Given the description of an element on the screen output the (x, y) to click on. 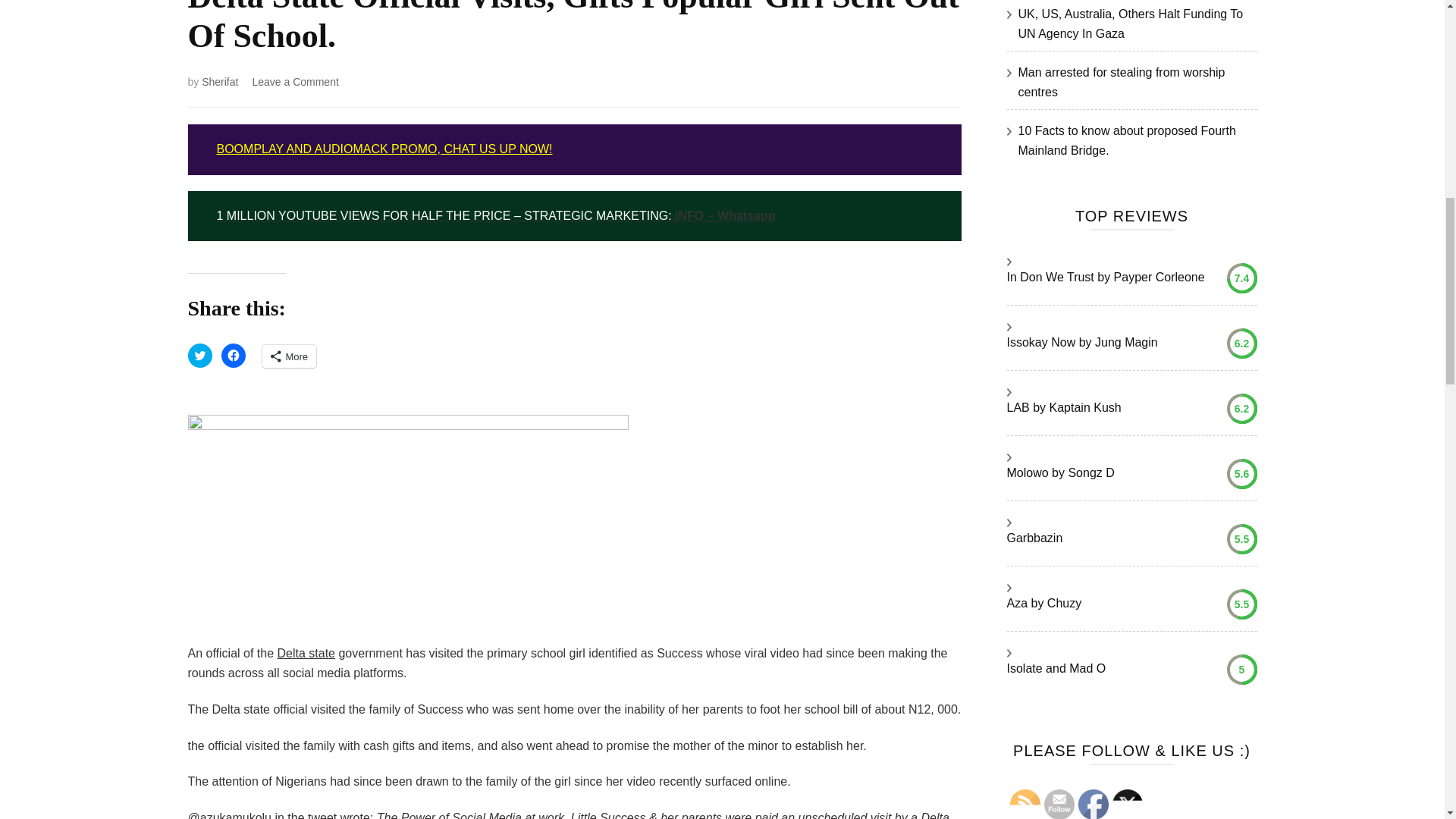
Click to share on Facebook (233, 355)
Sherifat (220, 81)
Click to share on Twitter (199, 355)
